Given the description of an element on the screen output the (x, y) to click on. 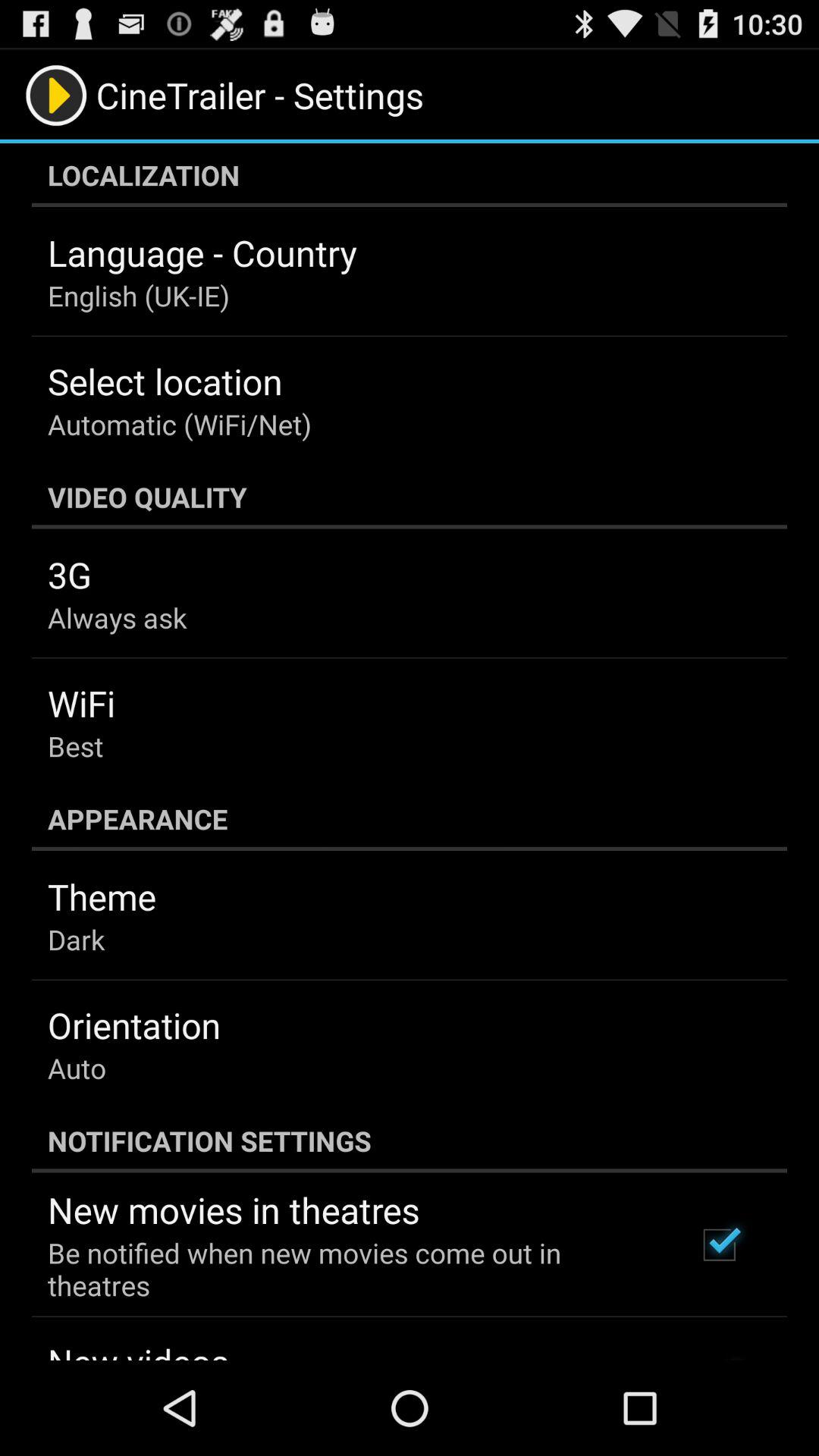
tap the localization icon (409, 175)
